Given the description of an element on the screen output the (x, y) to click on. 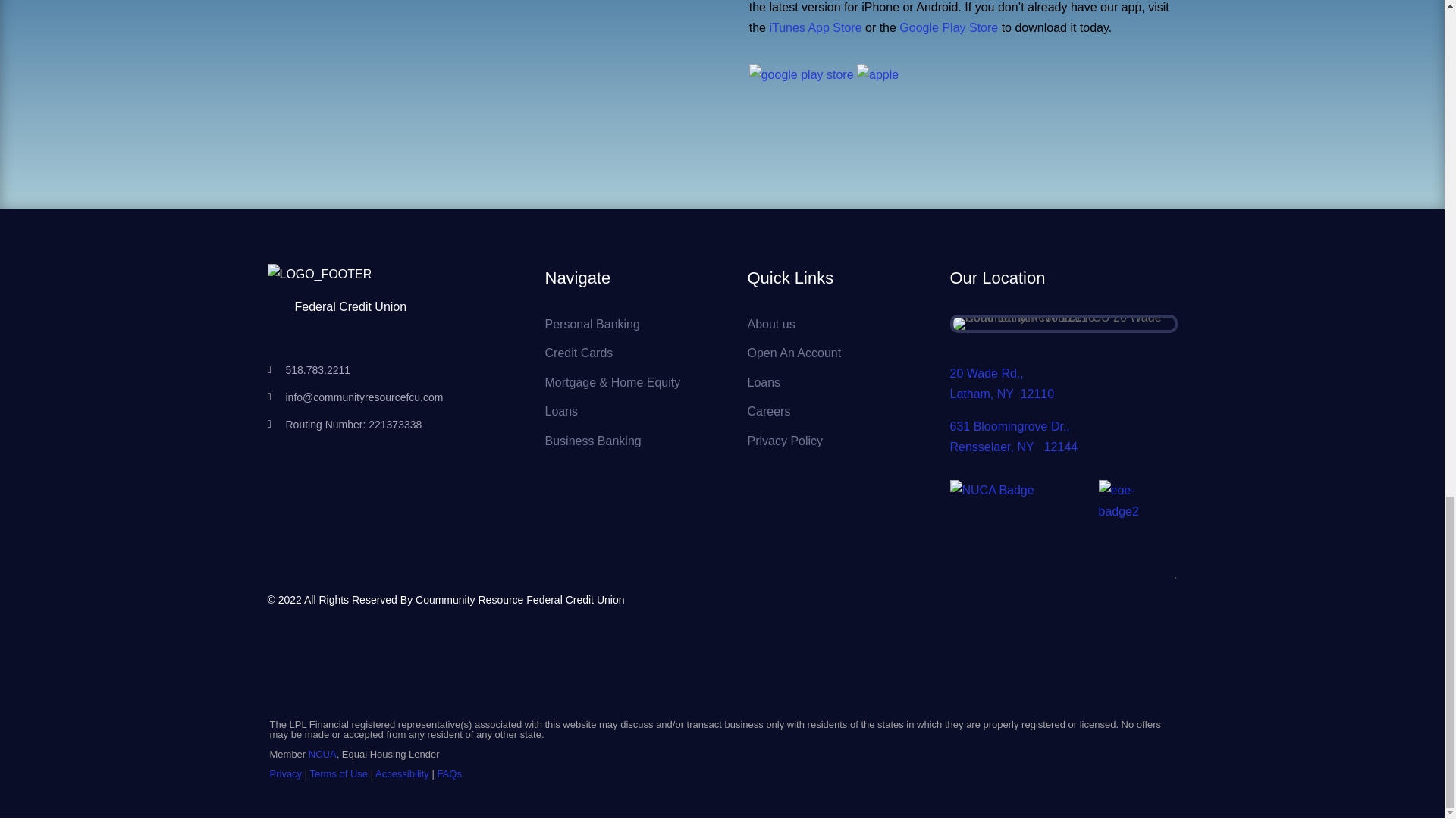
google play store (801, 74)
Loans (764, 382)
Loans (561, 410)
apple (877, 74)
Careers (769, 410)
Personal Banking (591, 323)
Credit Cards (578, 352)
About us (771, 323)
Open An Account (794, 352)
Business Banking (592, 440)
